Given the description of an element on the screen output the (x, y) to click on. 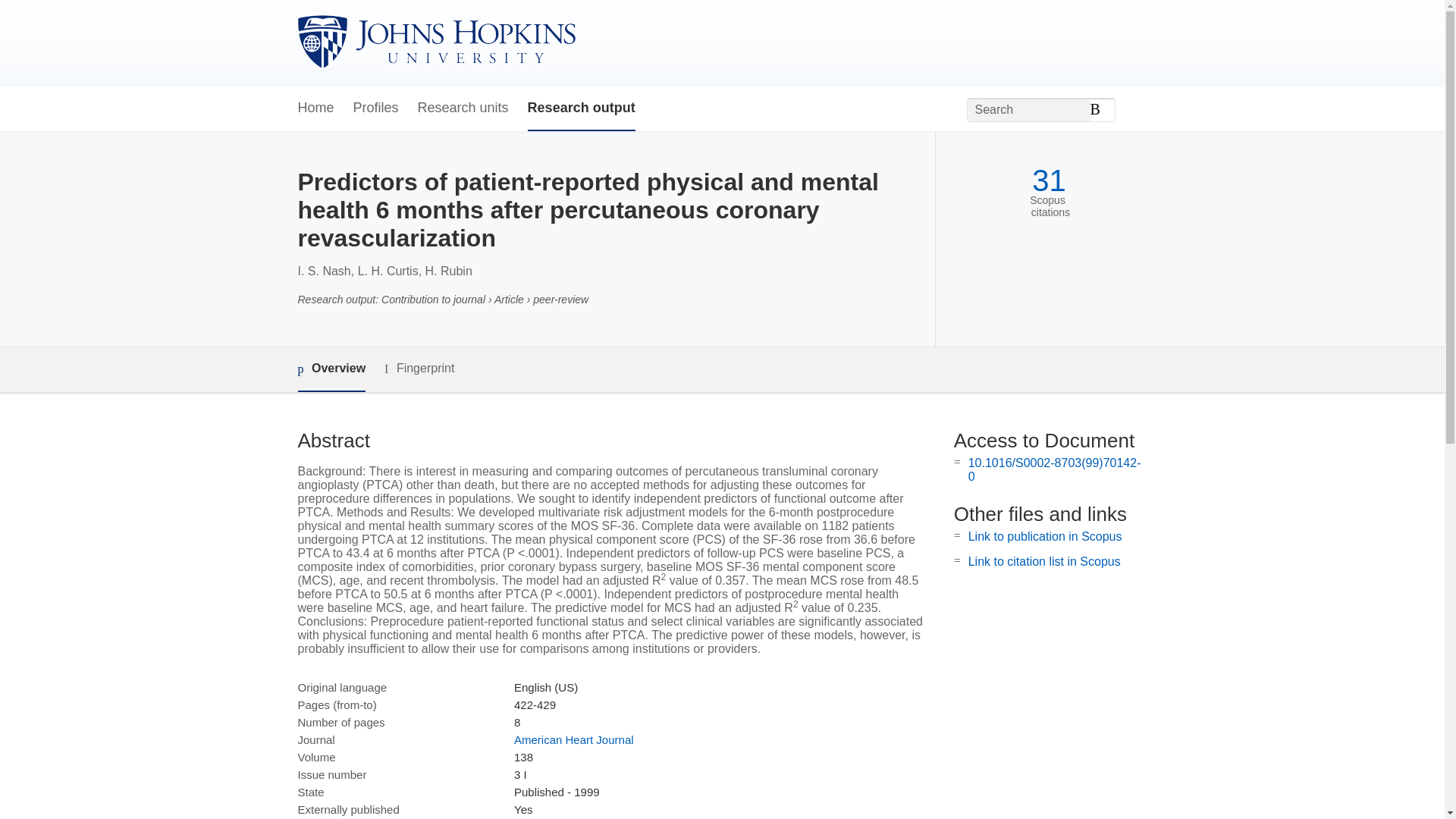
Overview (331, 369)
Research output (580, 108)
Link to citation list in Scopus (1044, 561)
Link to publication in Scopus (1045, 535)
31 (1048, 180)
American Heart Journal (573, 739)
Fingerprint (419, 368)
Research units (462, 108)
Johns Hopkins University Home (436, 43)
